Given the description of an element on the screen output the (x, y) to click on. 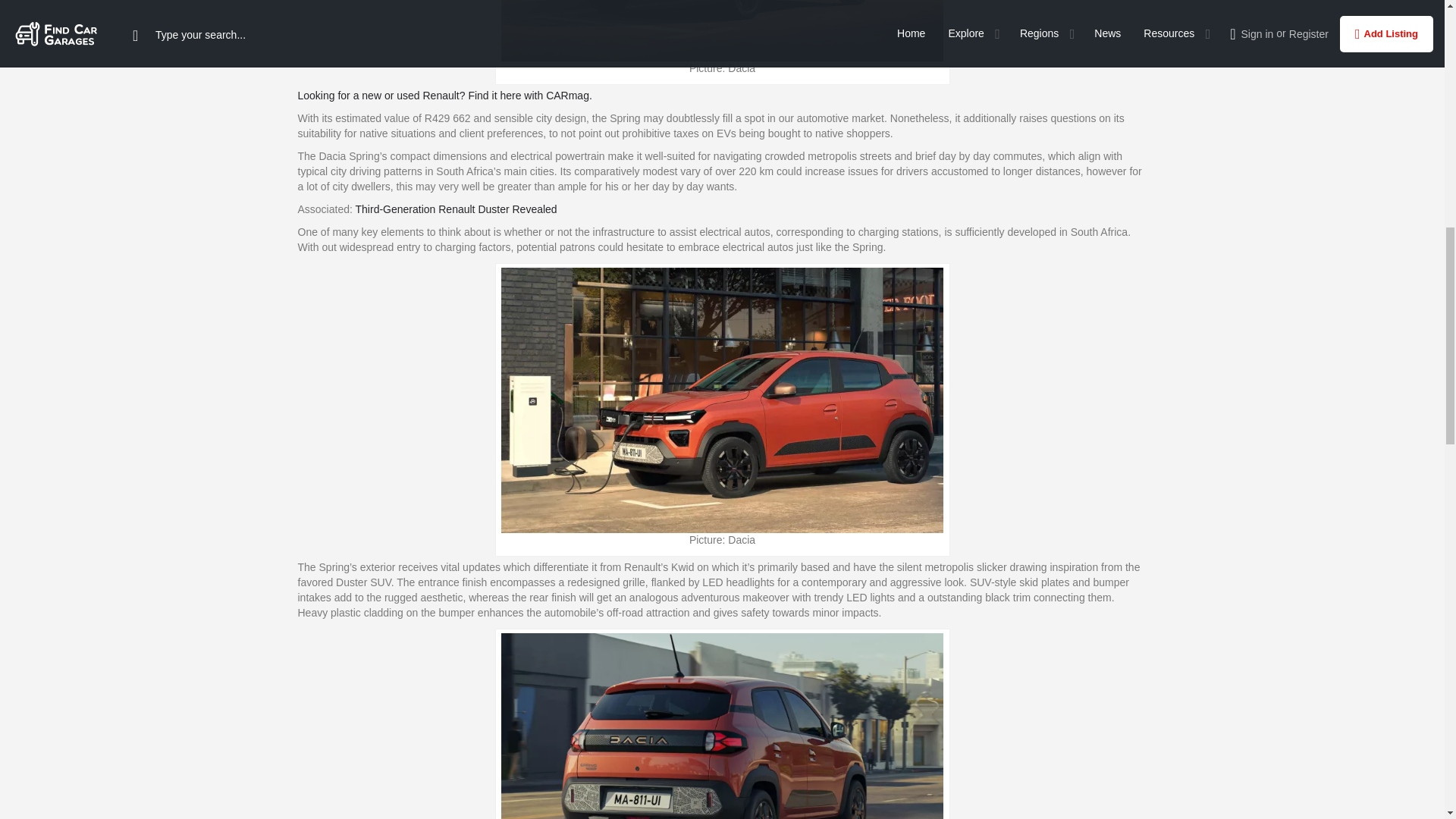
Looking for a new or used Renault? Find it here with CARmag. (444, 95)
Third-Generation Renault Duster Revealed (456, 209)
